Given the description of an element on the screen output the (x, y) to click on. 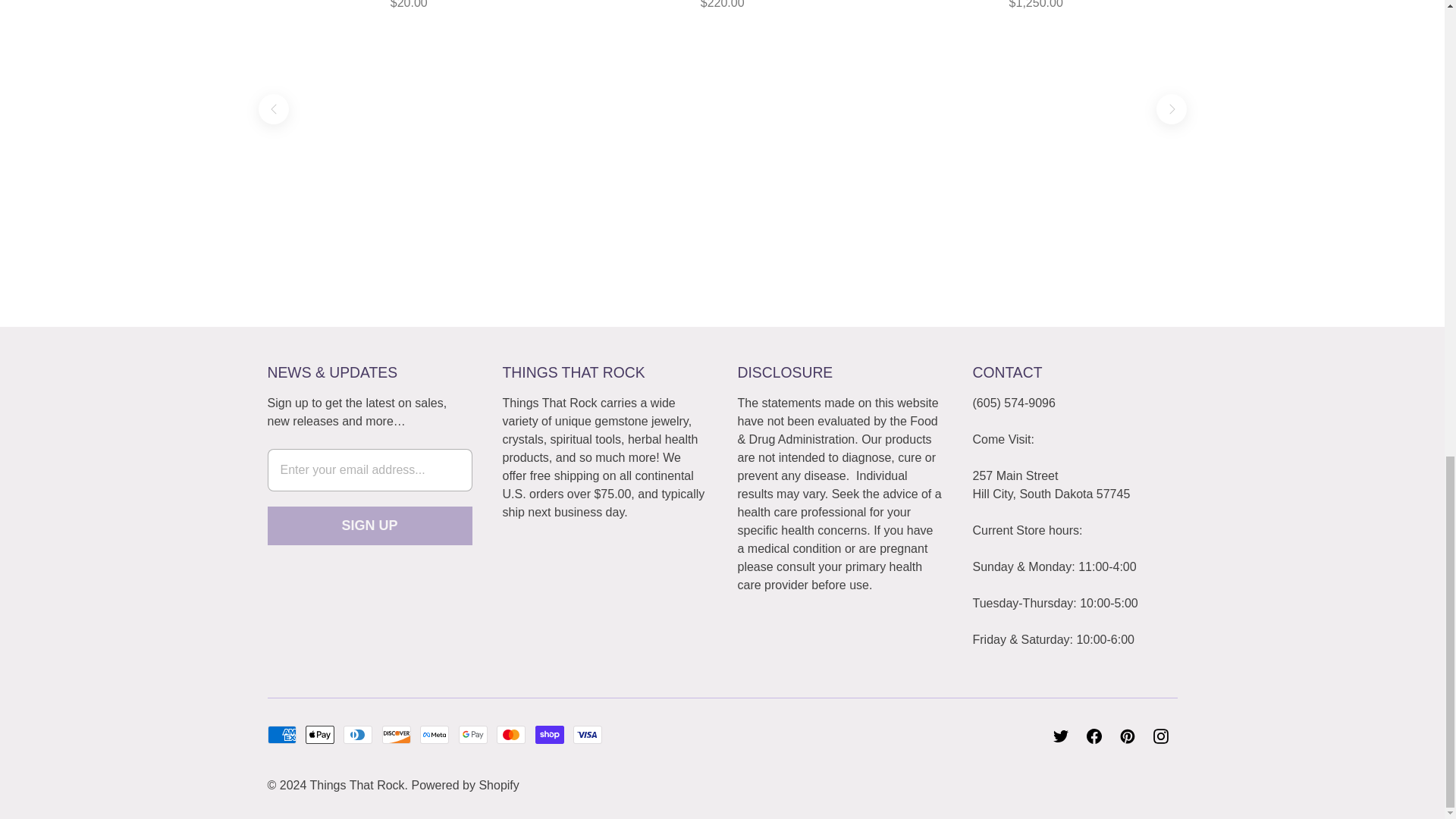
Sign Up (368, 525)
Meta Pay (434, 734)
Mastercard (510, 734)
Apple Pay (319, 734)
Diners Club (357, 734)
Shop Pay (549, 734)
Google Pay (472, 734)
Discover (395, 734)
Visa (587, 734)
American Express (280, 734)
